Given the description of an element on the screen output the (x, y) to click on. 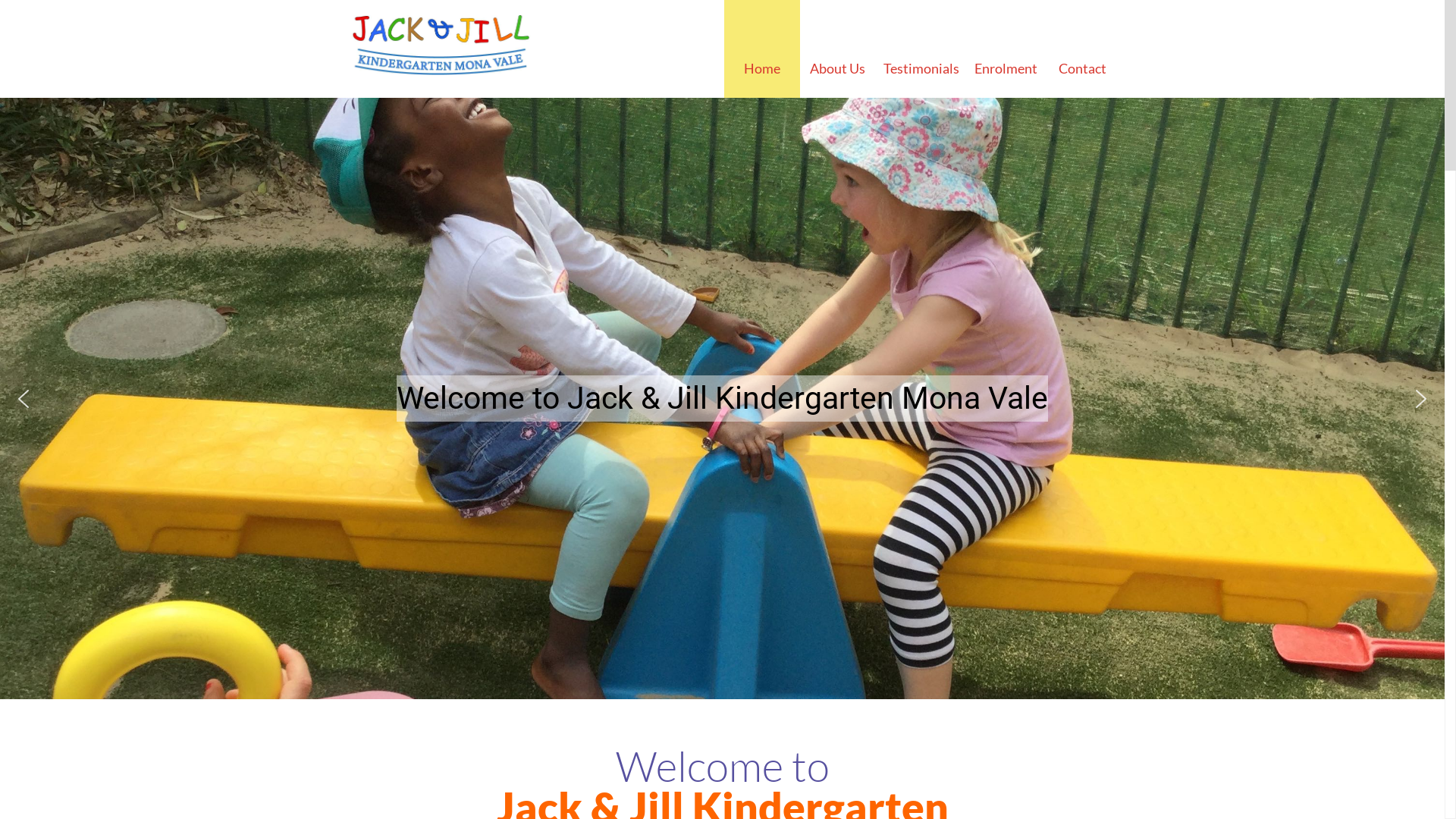
Enrolment Element type: text (1005, 48)
Home Element type: text (761, 48)
Contact Element type: text (1082, 48)
Jack & Jill Kindergarten Element type: hover (438, 45)
Testimonials Element type: text (920, 48)
Privacy Element type: text (639, 729)
Hudson Web Solutions Element type: text (498, 777)
Terms of Use Element type: text (582, 729)
About Us Element type: text (837, 48)
